Given the description of an element on the screen output the (x, y) to click on. 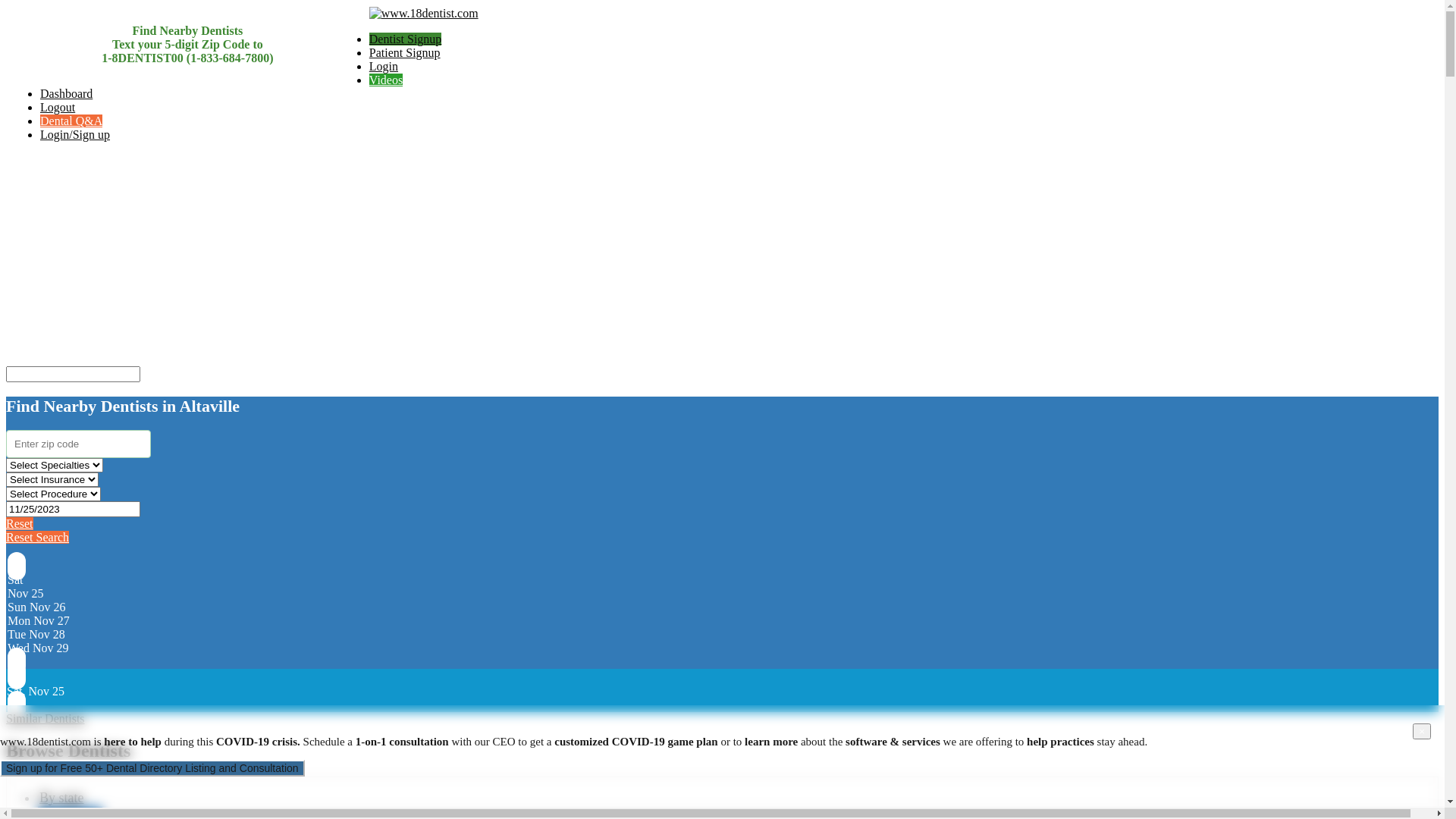
Login Element type: text (383, 65)
Dental Q&A Element type: text (71, 120)
Similar Dentists Element type: text (45, 718)
Reset Search Element type: text (37, 536)
Dentist Signup Element type: text (405, 38)
Reset Element type: text (19, 523)
Logout Element type: text (57, 106)
Patient Signup Element type: text (404, 52)
Login/Sign up Element type: text (74, 134)
Advertisement Element type: hover (461, 259)
Dashboard Element type: text (66, 93)
Videos Element type: text (385, 79)
By state Element type: text (61, 797)
